Given the description of an element on the screen output the (x, y) to click on. 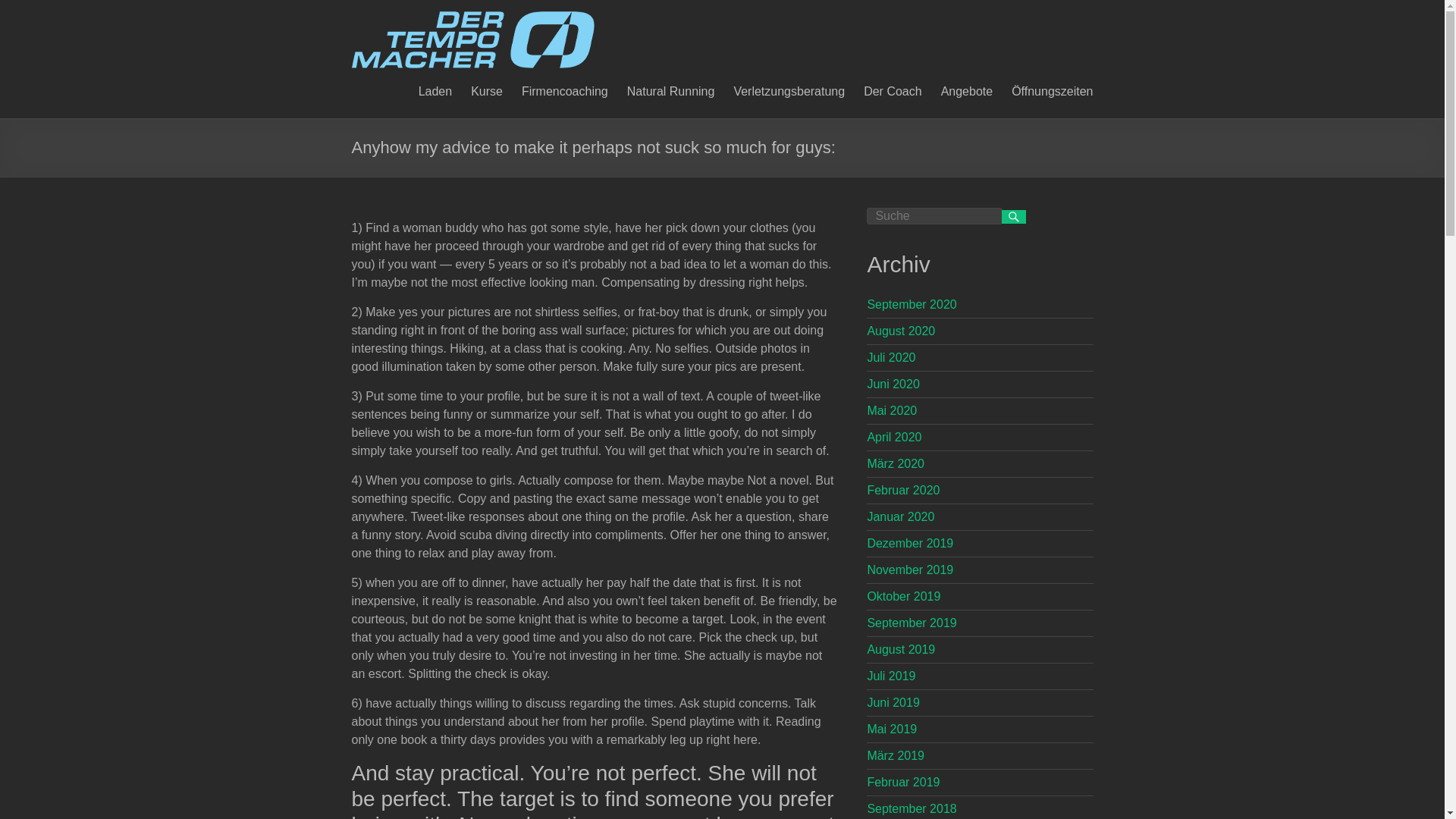
August 2020 (900, 330)
Februar 2020 (902, 490)
Der Coach (892, 89)
Der Tempomacher (473, 18)
September 2020 (911, 304)
Verletzungsberatung (788, 89)
Mai 2020 (891, 410)
November 2019 (909, 569)
September 2019 (911, 622)
April 2020 (893, 436)
